Given the description of an element on the screen output the (x, y) to click on. 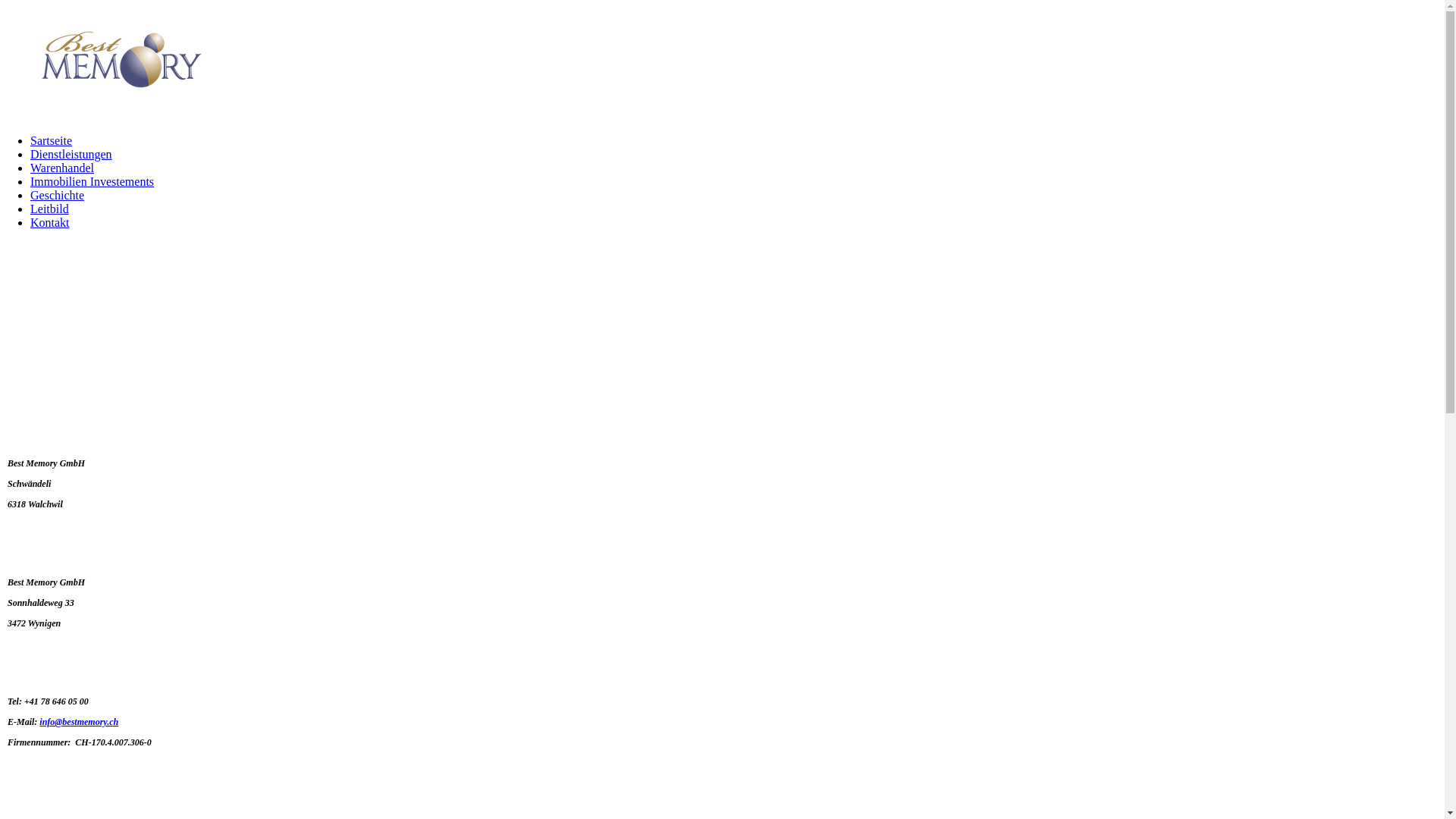
Warenhandel Element type: text (62, 167)
info@bestmemory.ch Element type: text (78, 721)
Leitbild Element type: text (49, 208)
Kontakt Element type: text (49, 222)
Dienstleistungen Element type: text (71, 153)
Geschichte Element type: text (57, 194)
Immobilien Investements Element type: text (91, 181)
Sartseite Element type: text (51, 140)
